Given the description of an element on the screen output the (x, y) to click on. 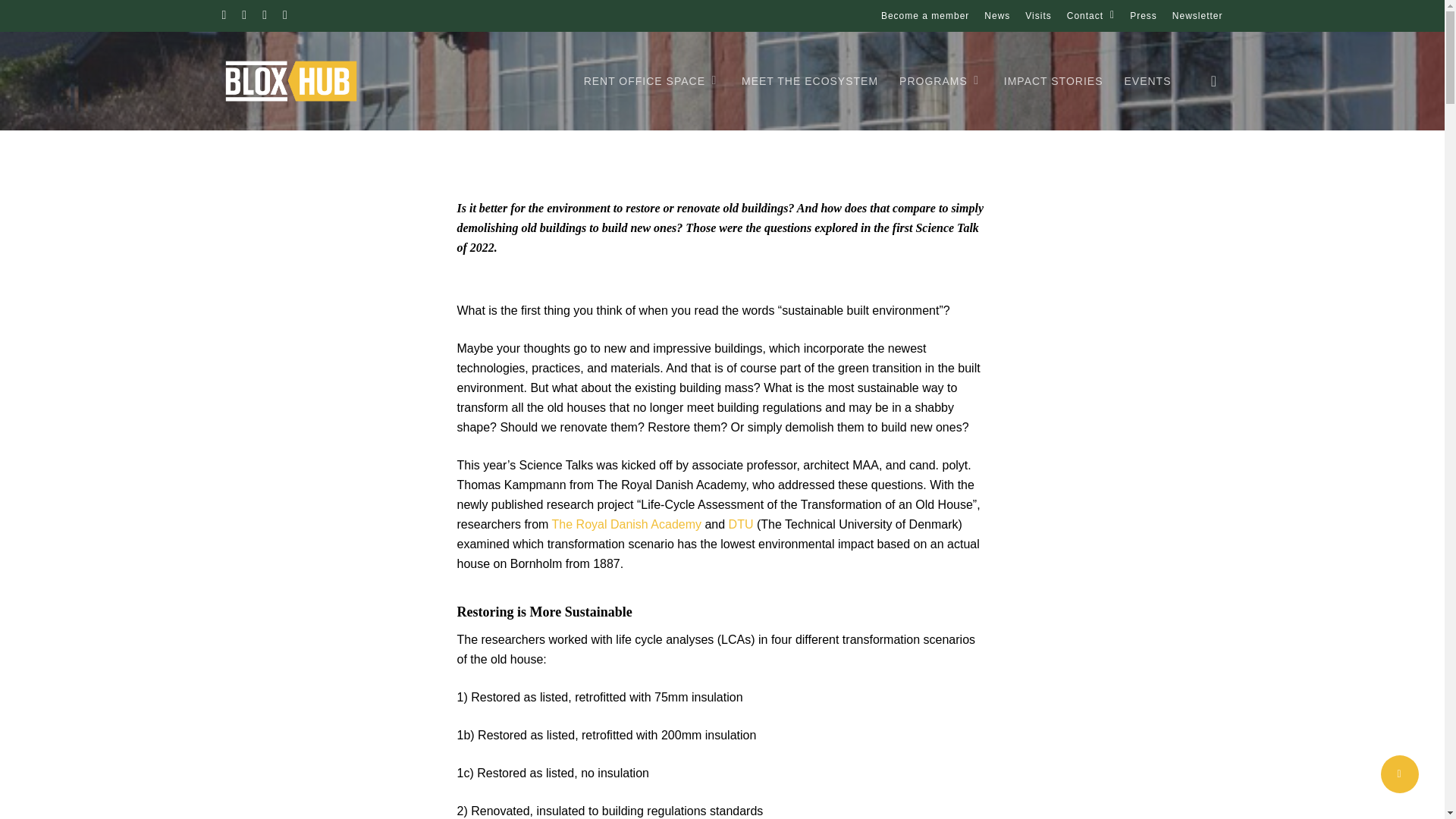
search (1213, 80)
Contact (1091, 15)
Become a member (924, 15)
IMPACT STORIES (1053, 80)
Press (1143, 15)
Newsletter (1197, 15)
MEET THE ECOSYSTEM (809, 80)
PROGRAMS (940, 80)
RENT OFFICE SPACE (651, 80)
News (997, 15)
Visits (1038, 15)
EVENTS (1147, 80)
